Given the description of an element on the screen output the (x, y) to click on. 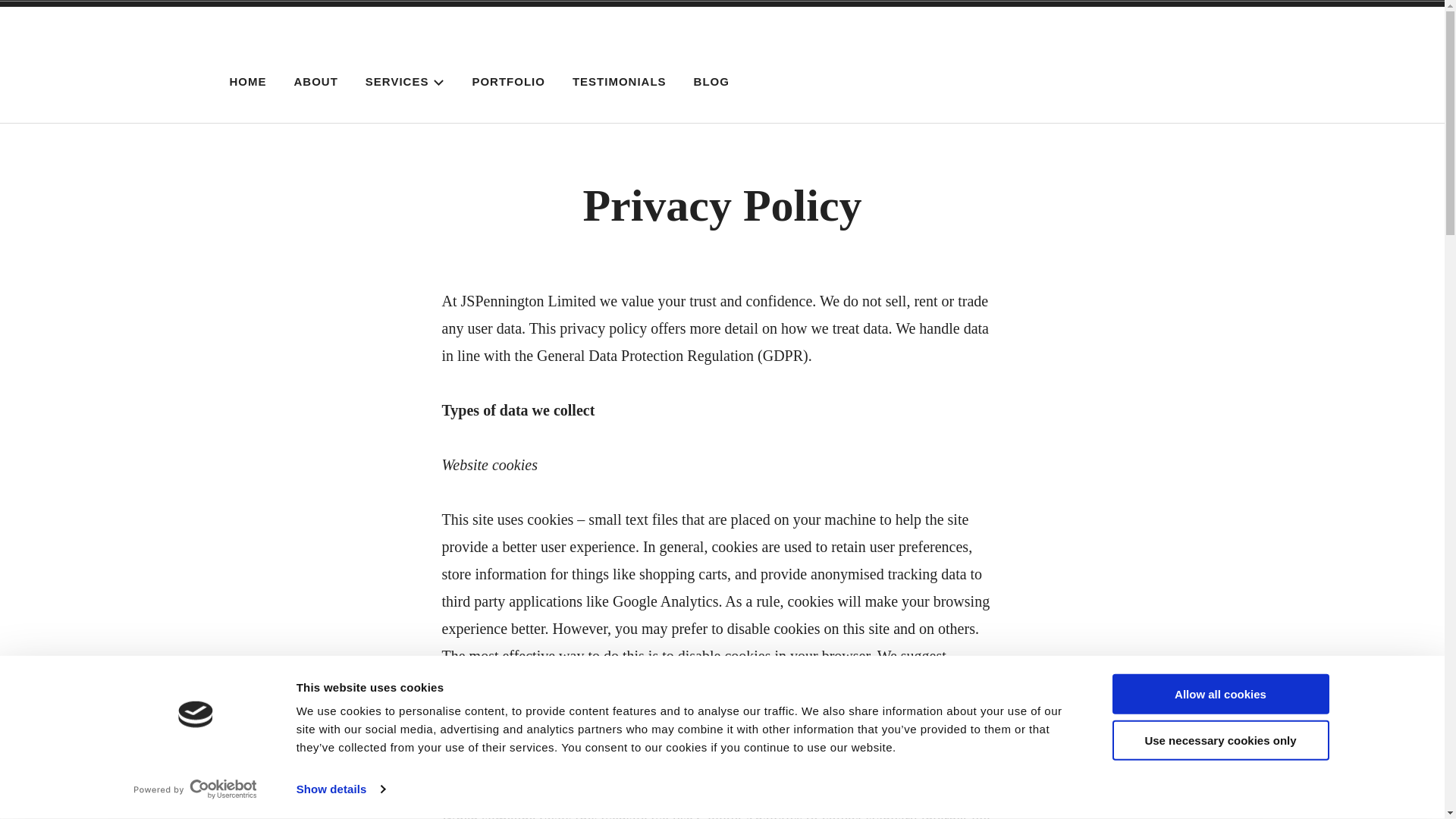
John Pennington (393, 63)
Allow all cookies (1219, 694)
Show details (340, 789)
Use necessary cookies only (1219, 740)
